Given the description of an element on the screen output the (x, y) to click on. 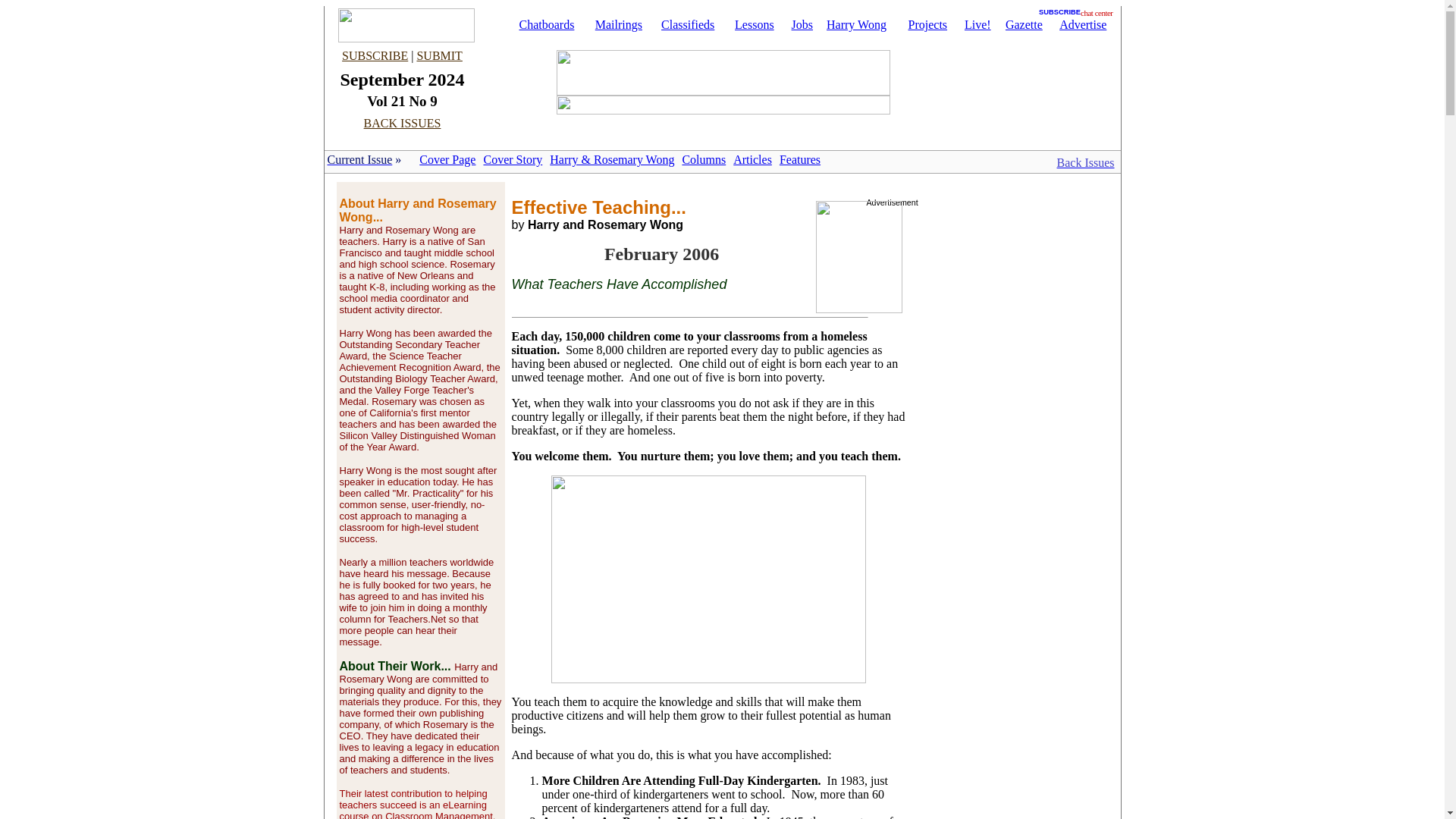
SUBSCRIBE (1059, 8)
Harry Wong (852, 24)
Advertise (1078, 24)
Jobs (798, 24)
chat center (1099, 10)
Projects (924, 24)
Chatboards (542, 24)
Classifieds (683, 24)
SUBSCRIBE (374, 55)
Gazette (1019, 24)
